Given the description of an element on the screen output the (x, y) to click on. 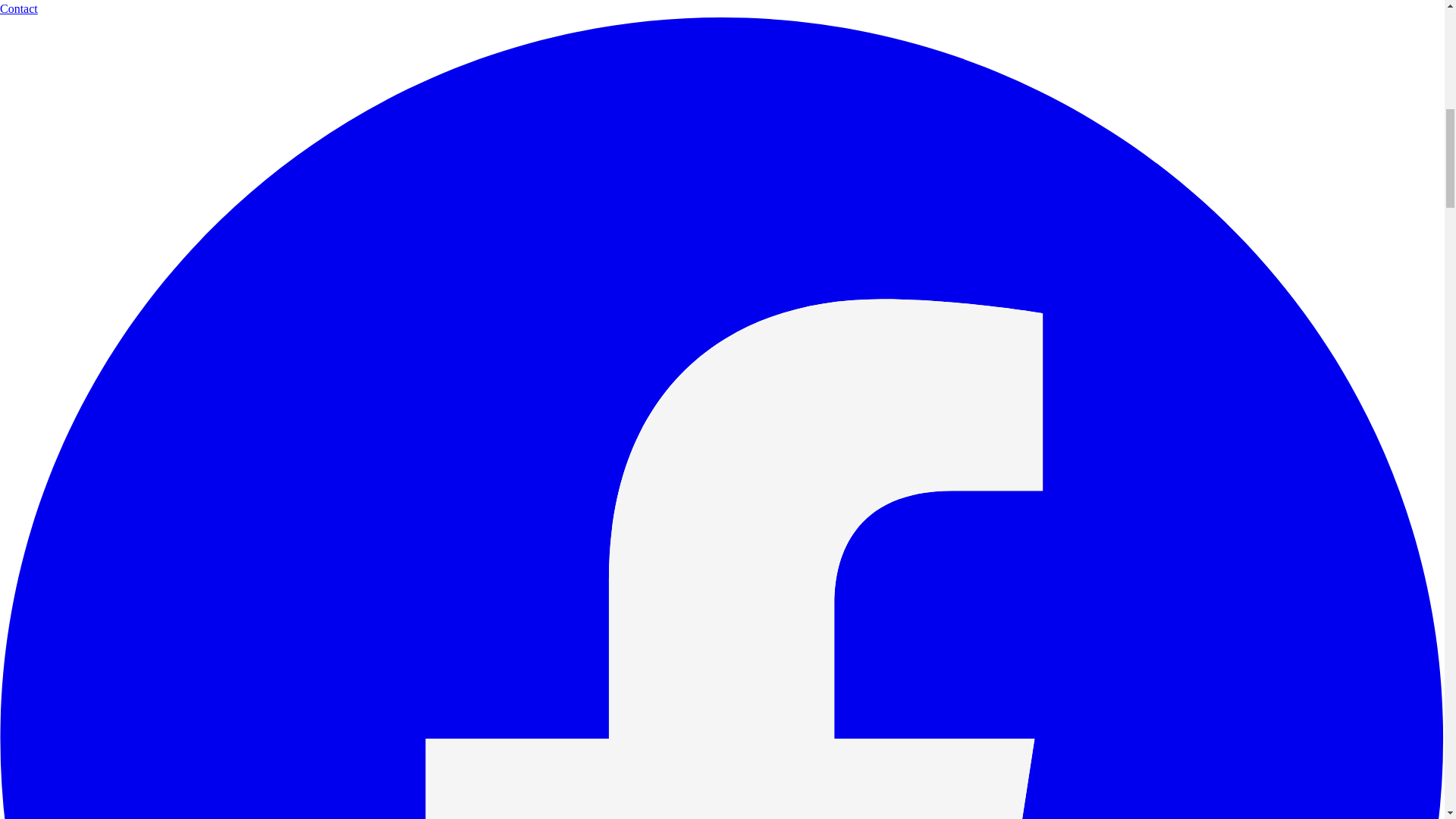
Contact (18, 8)
